Given the description of an element on the screen output the (x, y) to click on. 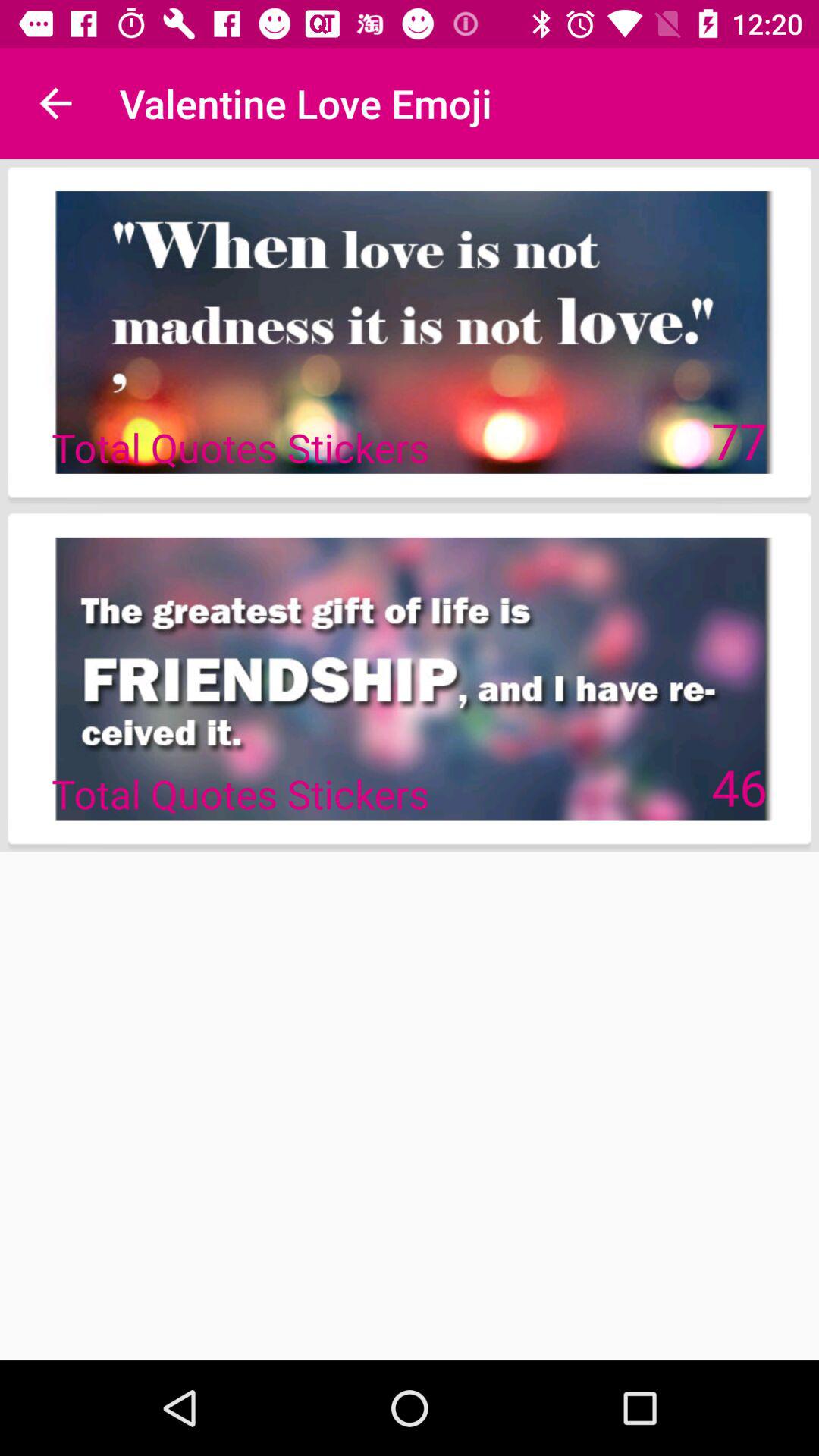
open icon to the left of the valentine love emoji app (55, 103)
